Given the description of an element on the screen output the (x, y) to click on. 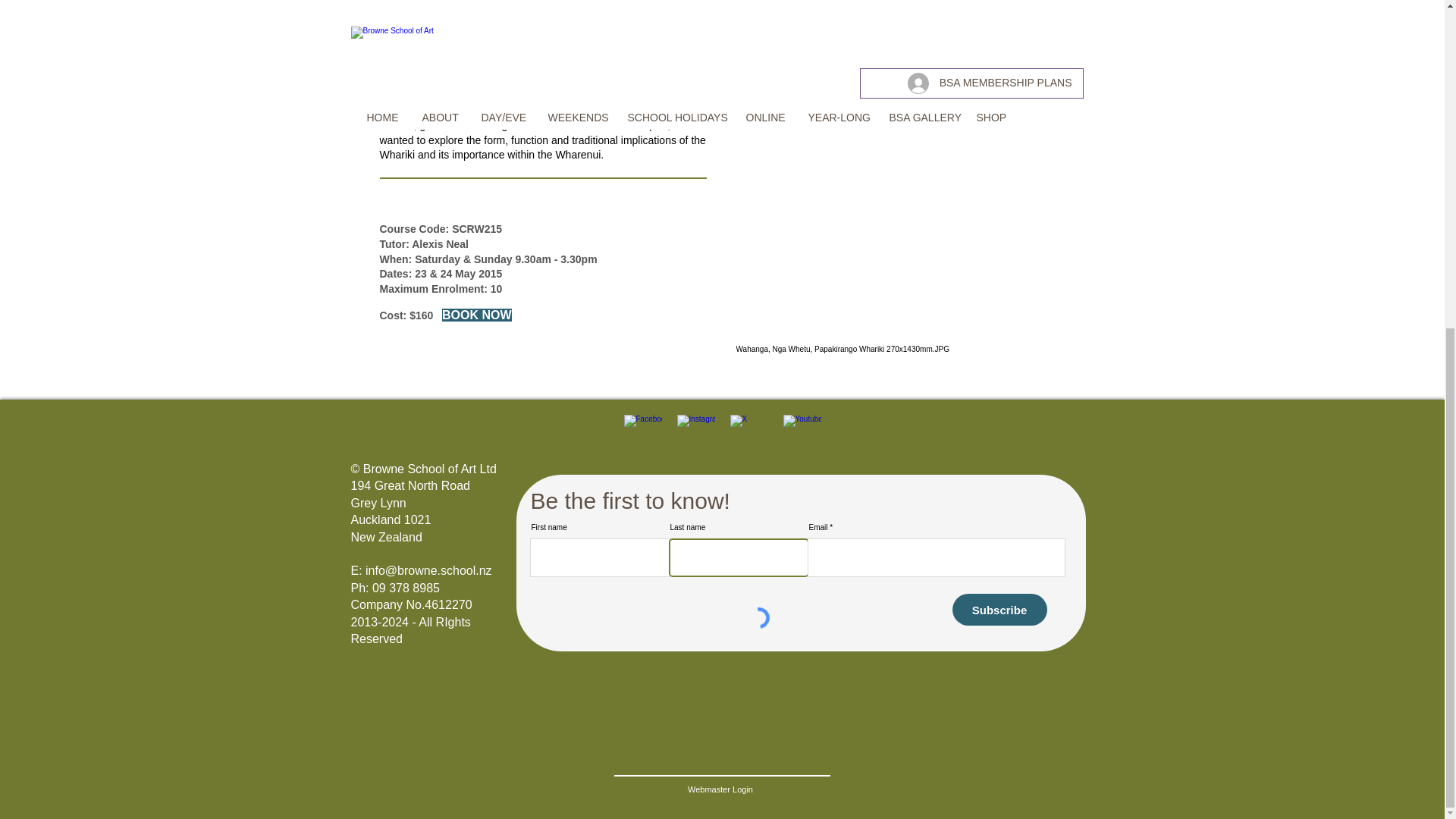
Webmaster Login (719, 789)
BOOK NOW (477, 315)
Subscribe (999, 609)
